Given the description of an element on the screen output the (x, y) to click on. 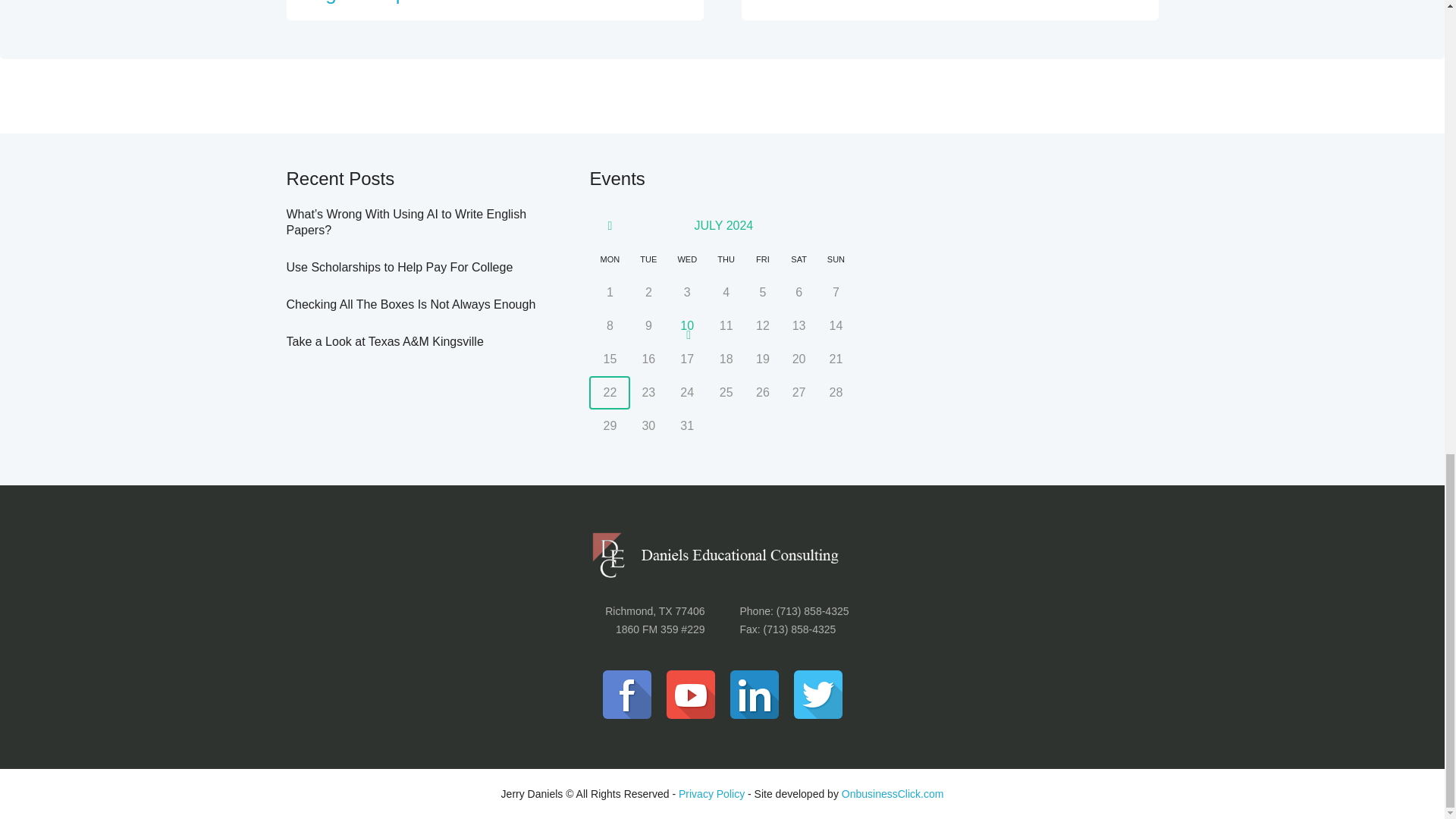
Wednesday (686, 259)
Use Scholarships to Help Pay For College (399, 267)
Tuesday (648, 259)
Monday (609, 259)
Friday (762, 259)
View posts for February 2024 (609, 226)
View posts for July 2024 (724, 225)
Thursday (725, 259)
Saturday (798, 259)
